Given the description of an element on the screen output the (x, y) to click on. 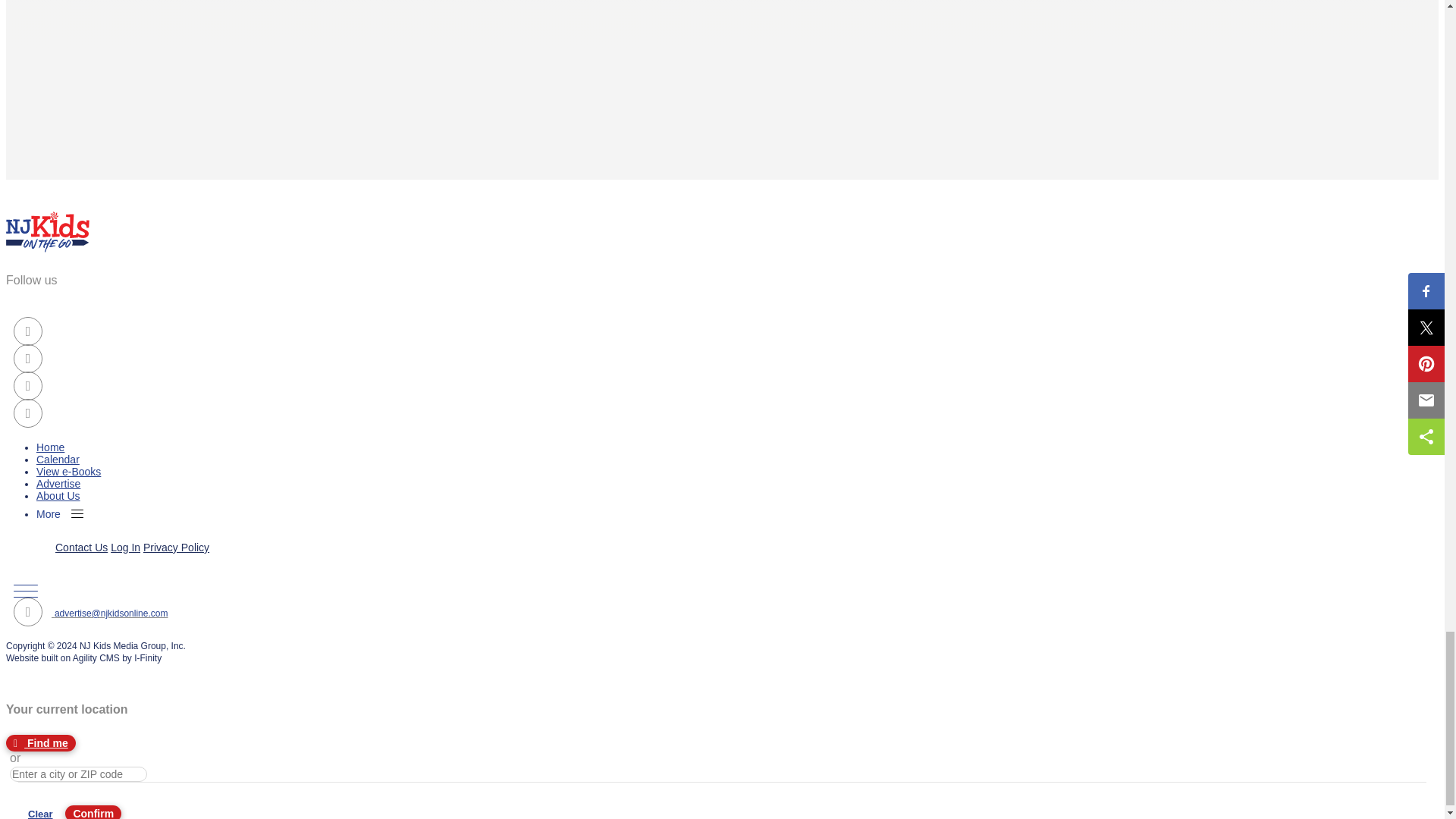
3rd party ad content (118, 67)
